Given the description of an element on the screen output the (x, y) to click on. 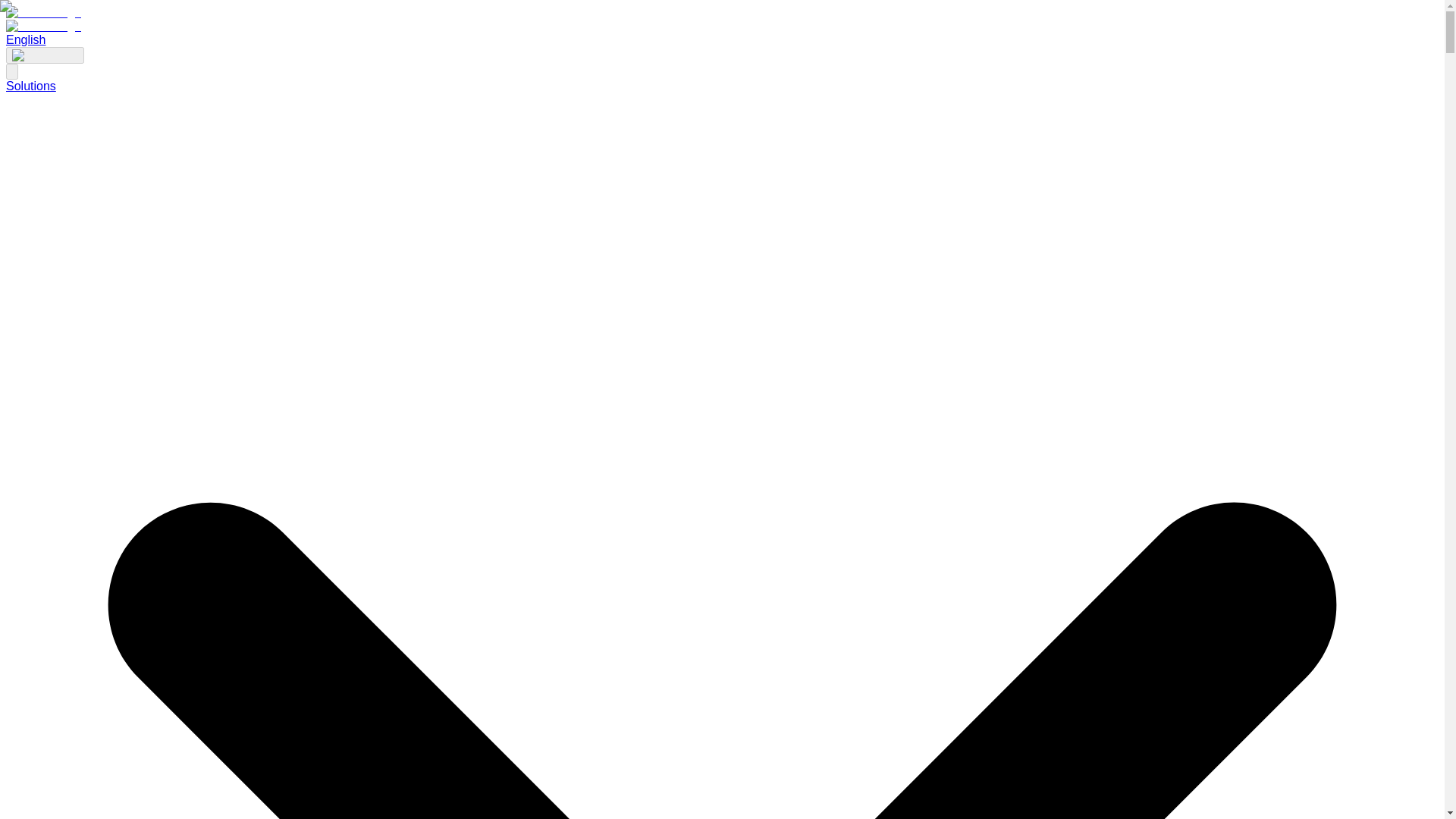
Solutions (30, 85)
English (25, 39)
